Given the description of an element on the screen output the (x, y) to click on. 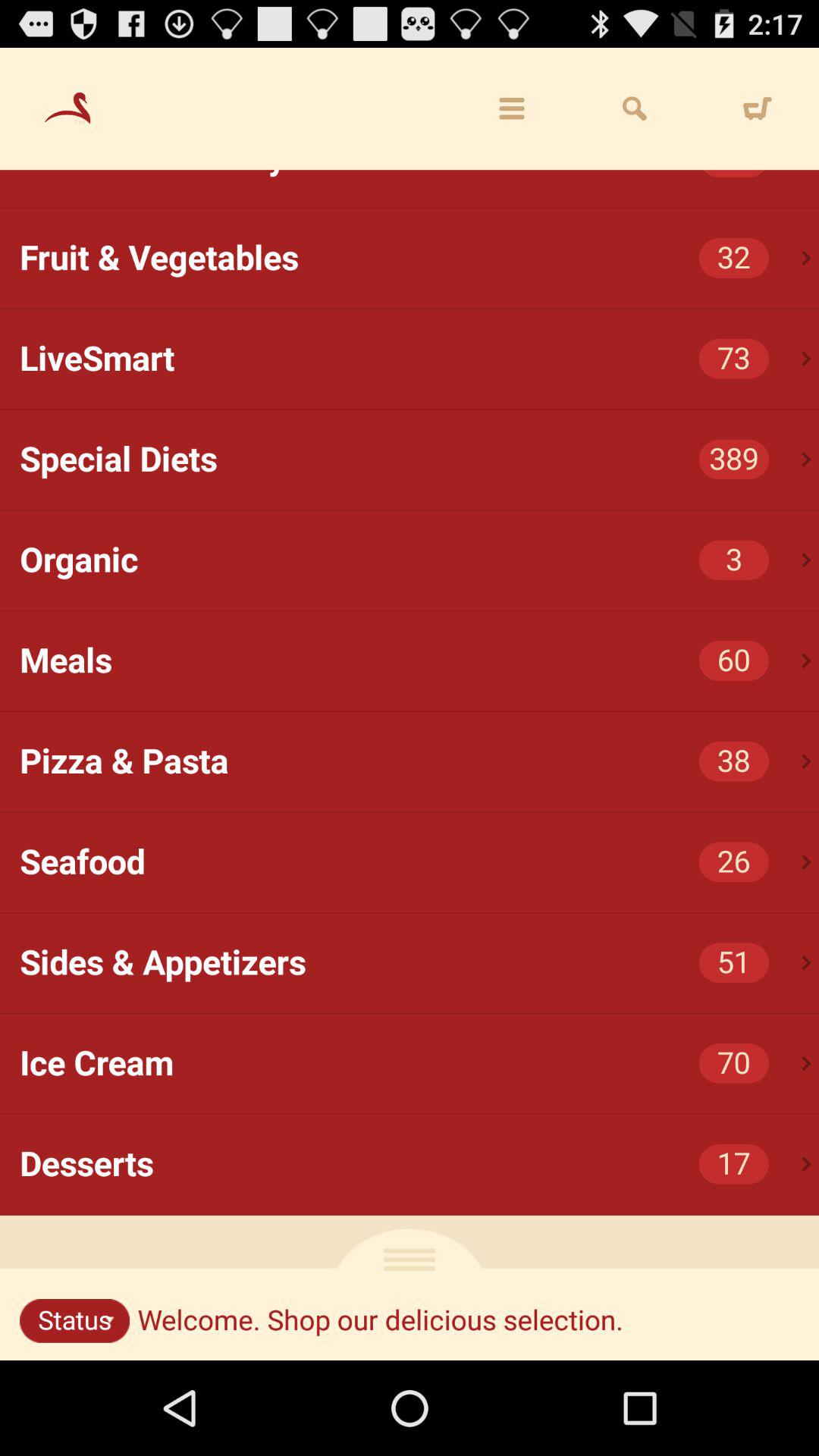
turn on item below fruit & vegetables icon (419, 358)
